Given the description of an element on the screen output the (x, y) to click on. 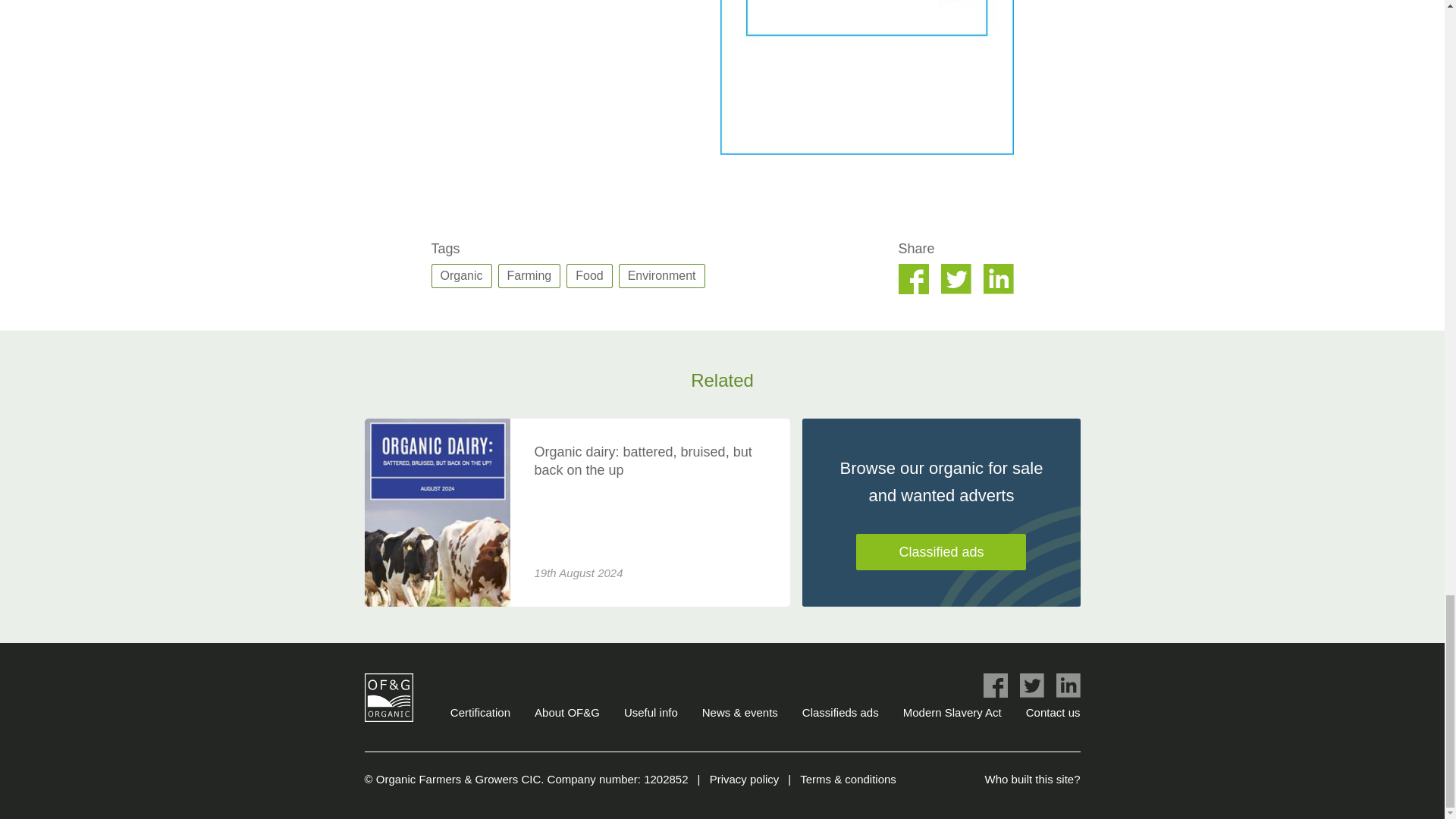
Food (588, 275)
Organic (461, 275)
Farming (528, 275)
